Given the description of an element on the screen output the (x, y) to click on. 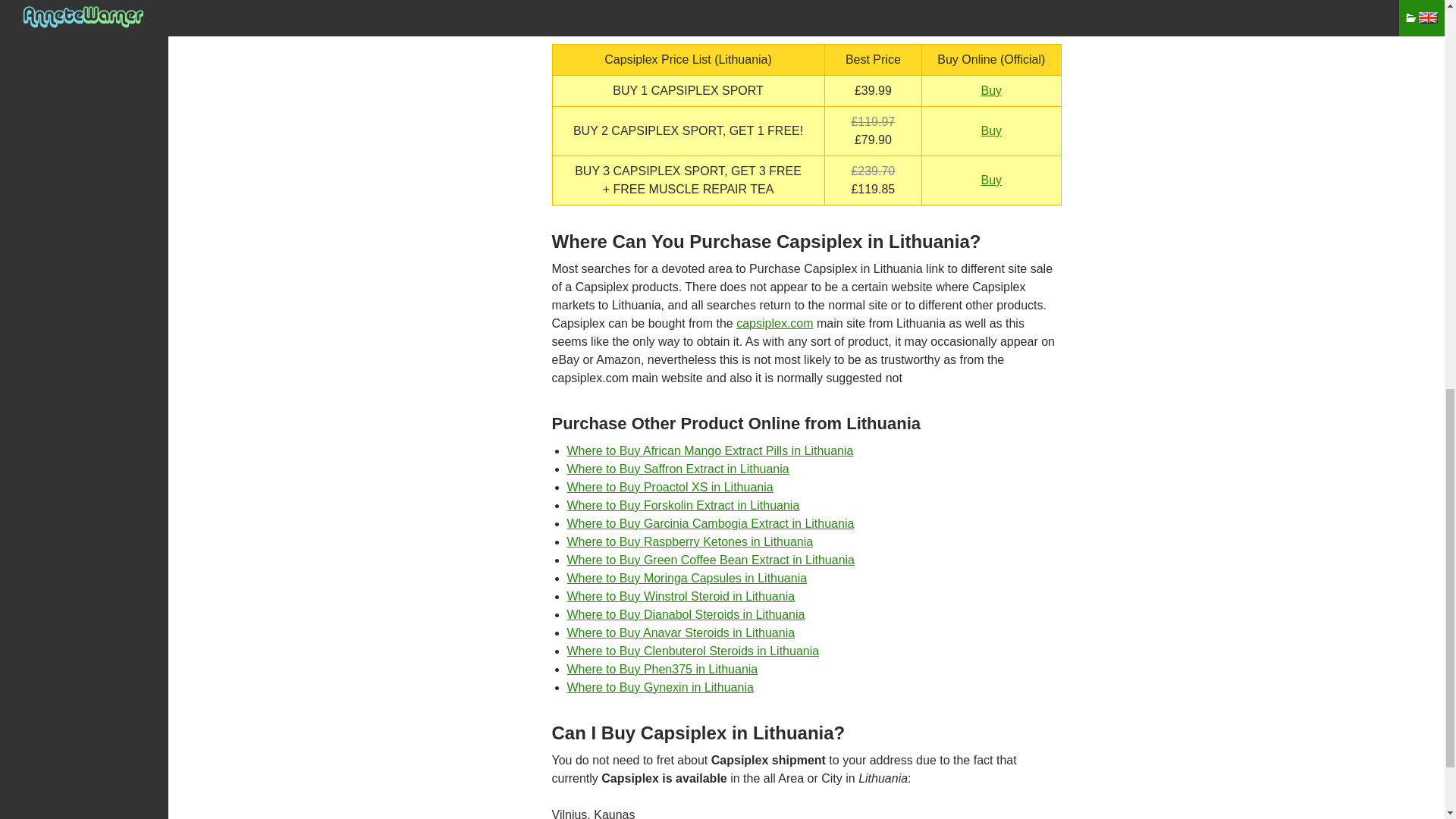
Where to Buy Dianabol Steroids in Lithuania (686, 614)
Where to Buy proactol online Lithuania (670, 486)
Where to Buy forskolin online Lithuania (683, 504)
Where to Buy anavar-steroids online Lithuania (680, 632)
Where to Buy clenbuterol-steroids online Lithuania (693, 650)
Where to Buy Forskolin Extract in Lithuania (683, 504)
Kaunas (614, 813)
Where to Buy saffron-extract online Lithuania (678, 468)
Where to Buy garcinia-cambogia-extract online Lithuania (710, 522)
Where to Buy gynexin online Lithuania (660, 686)
Where to Buy green-coffee-bean-extract online Lithuania (710, 559)
Where to Buy dianabol-steroids online Lithuania (686, 614)
Where to Buy Saffron Extract in Lithuania (678, 468)
Where to Buy Winstrol Steroid in Lithuania (680, 595)
Where to Buy winstrol-steroids online Lithuania (680, 595)
